Given the description of an element on the screen output the (x, y) to click on. 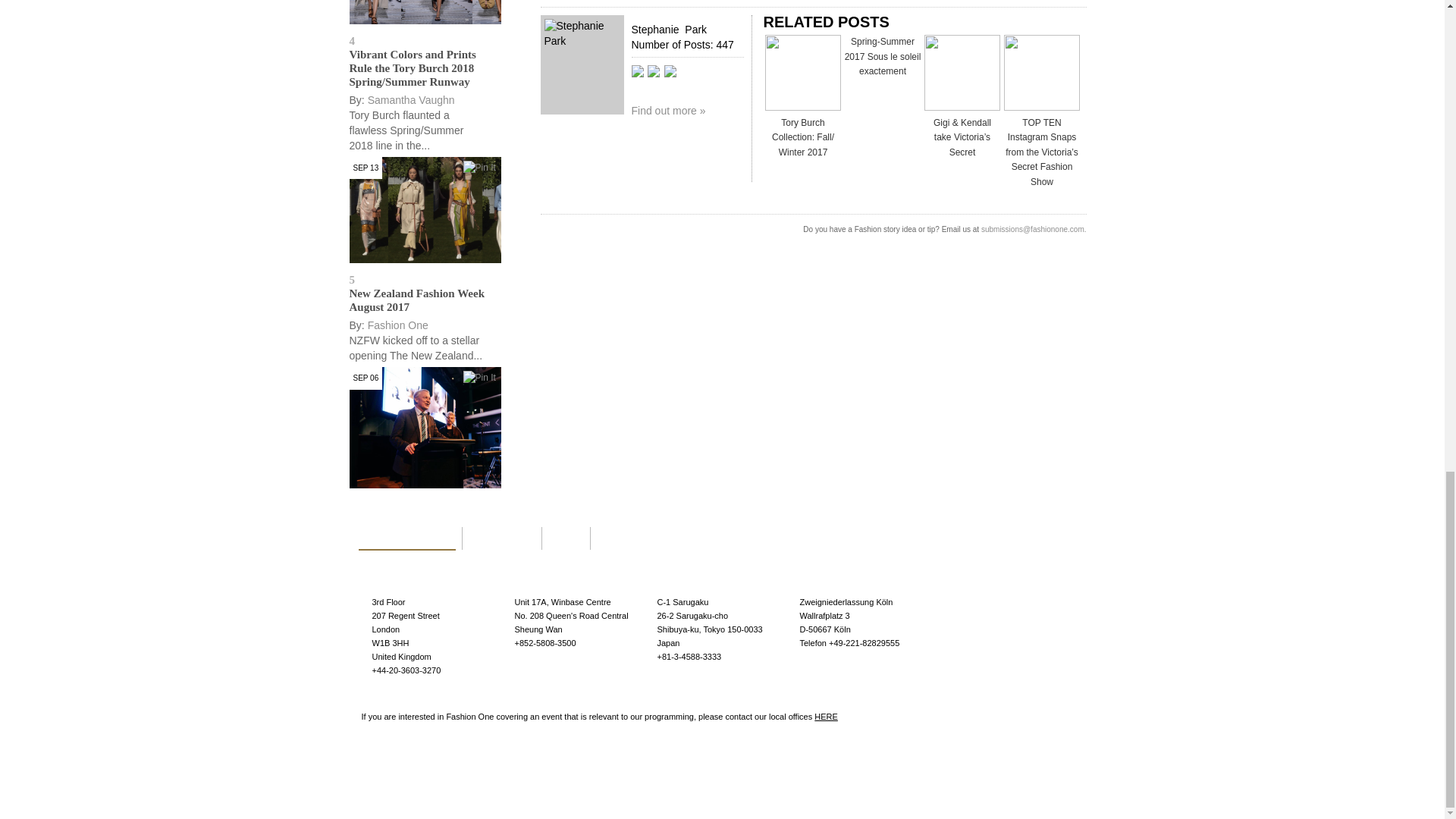
Pin It (479, 378)
Facebook (654, 92)
New Zealand Fashion Week August 2017 (416, 299)
Twitter (670, 92)
Website (638, 92)
Pin It (479, 168)
Samantha Vaughn (411, 100)
Fashion One (398, 325)
